Given the description of an element on the screen output the (x, y) to click on. 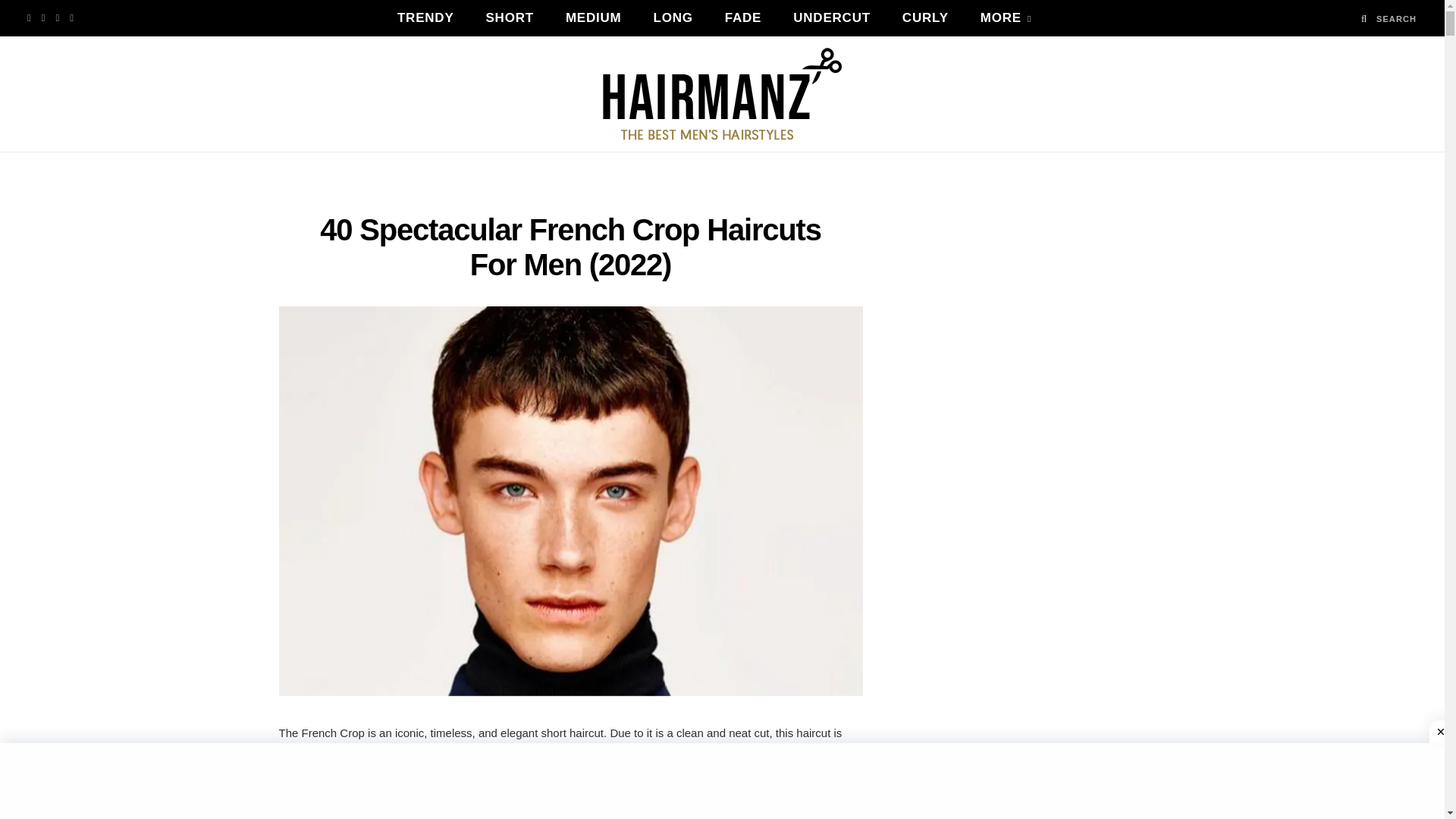
FADE (743, 18)
SHORT (510, 18)
LONG (673, 18)
CURLY (924, 18)
Hairmanz (721, 93)
Advertisement (571, 800)
MORE (1004, 18)
UNDERCUT (831, 18)
TRENDY (425, 18)
MEDIUM (593, 18)
